Given the description of an element on the screen output the (x, y) to click on. 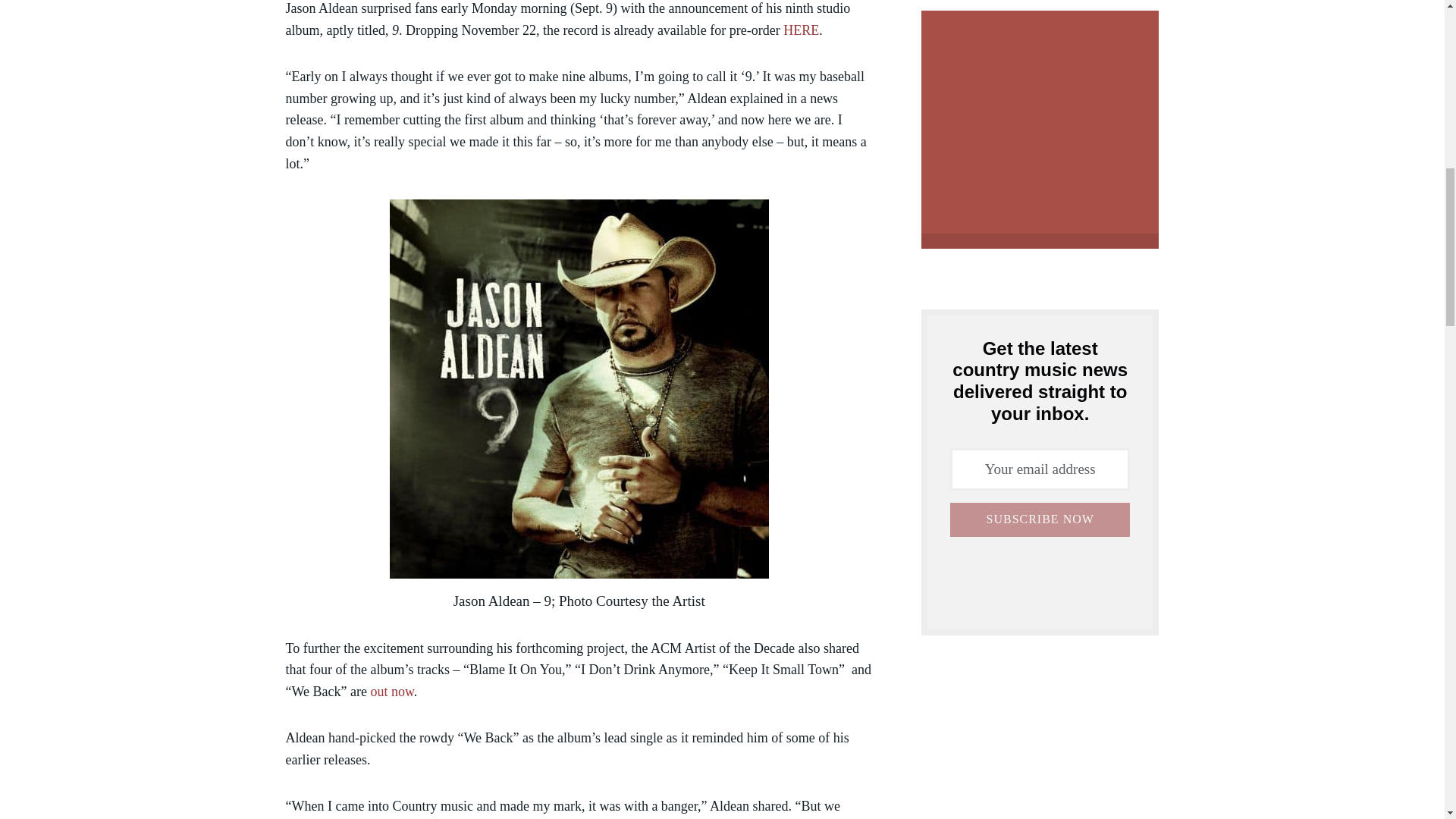
HERE (800, 29)
out now (391, 691)
